Given the description of an element on the screen output the (x, y) to click on. 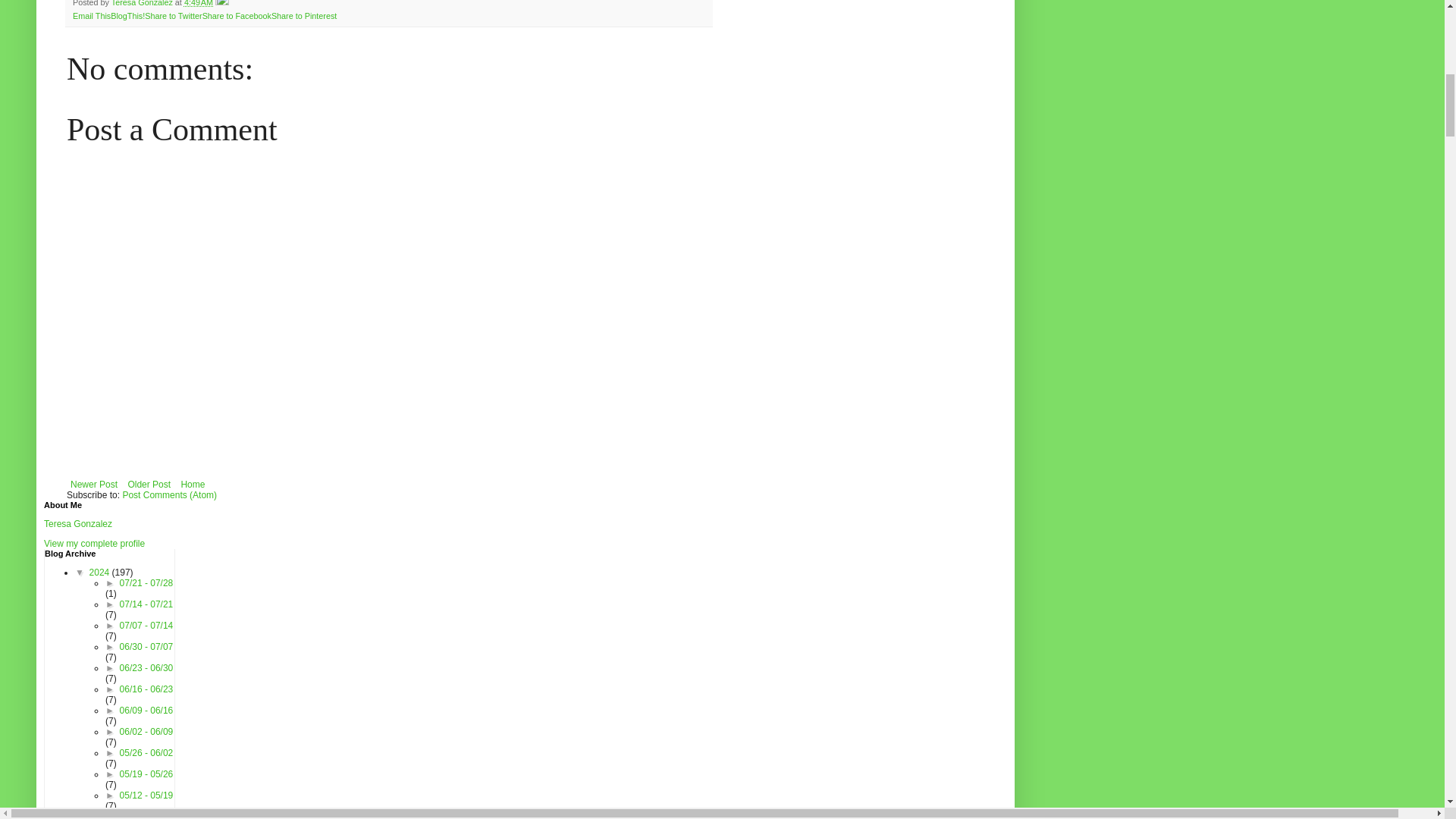
View my complete profile (93, 543)
author profile (143, 3)
Home (192, 484)
Share to Facebook (236, 14)
BlogThis! (127, 14)
Teresa Gonzalez (143, 3)
Share to Pinterest (303, 14)
permanent link (198, 3)
Share to Twitter (173, 14)
Email This (91, 14)
2024 (100, 572)
Older Post (148, 484)
Share to Twitter (173, 14)
Newer Post (93, 484)
Edit Post (221, 3)
